Given the description of an element on the screen output the (x, y) to click on. 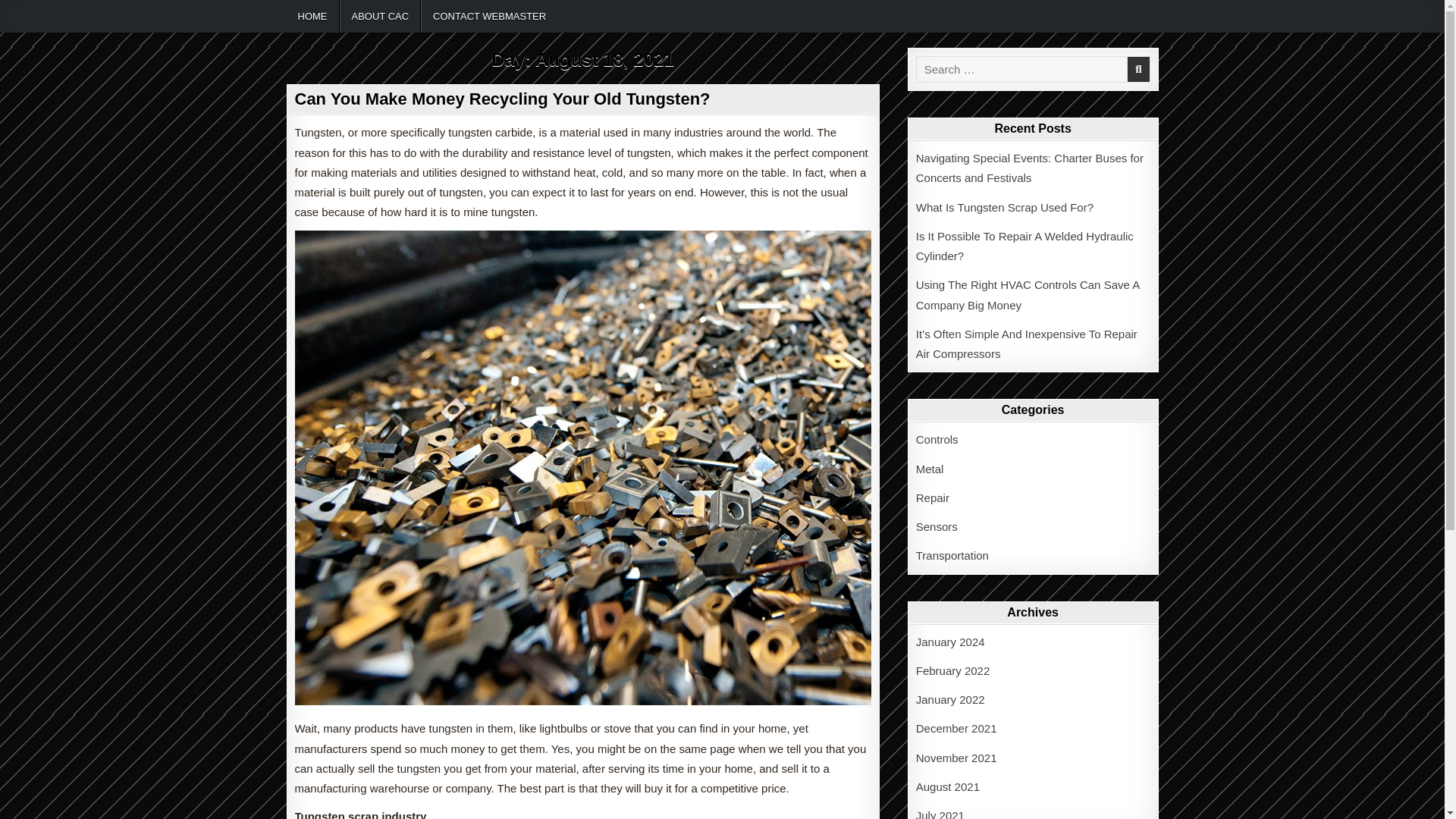
ABOUT CAC (380, 16)
Is It Possible To Repair A Welded Hydraulic Cylinder? (1024, 246)
Metal (929, 468)
December 2021 (956, 727)
Sensors (936, 526)
July 2021 (939, 814)
January 2024 (950, 641)
Transportation (951, 554)
August 2021 (947, 786)
HOME (312, 16)
Using The Right HVAC Controls Can Save A Company Big Money (1027, 294)
Can You Make Money Recycling Your Old Tungsten? (502, 98)
CONTACT WEBMASTER (488, 16)
November 2021 (956, 757)
